Given the description of an element on the screen output the (x, y) to click on. 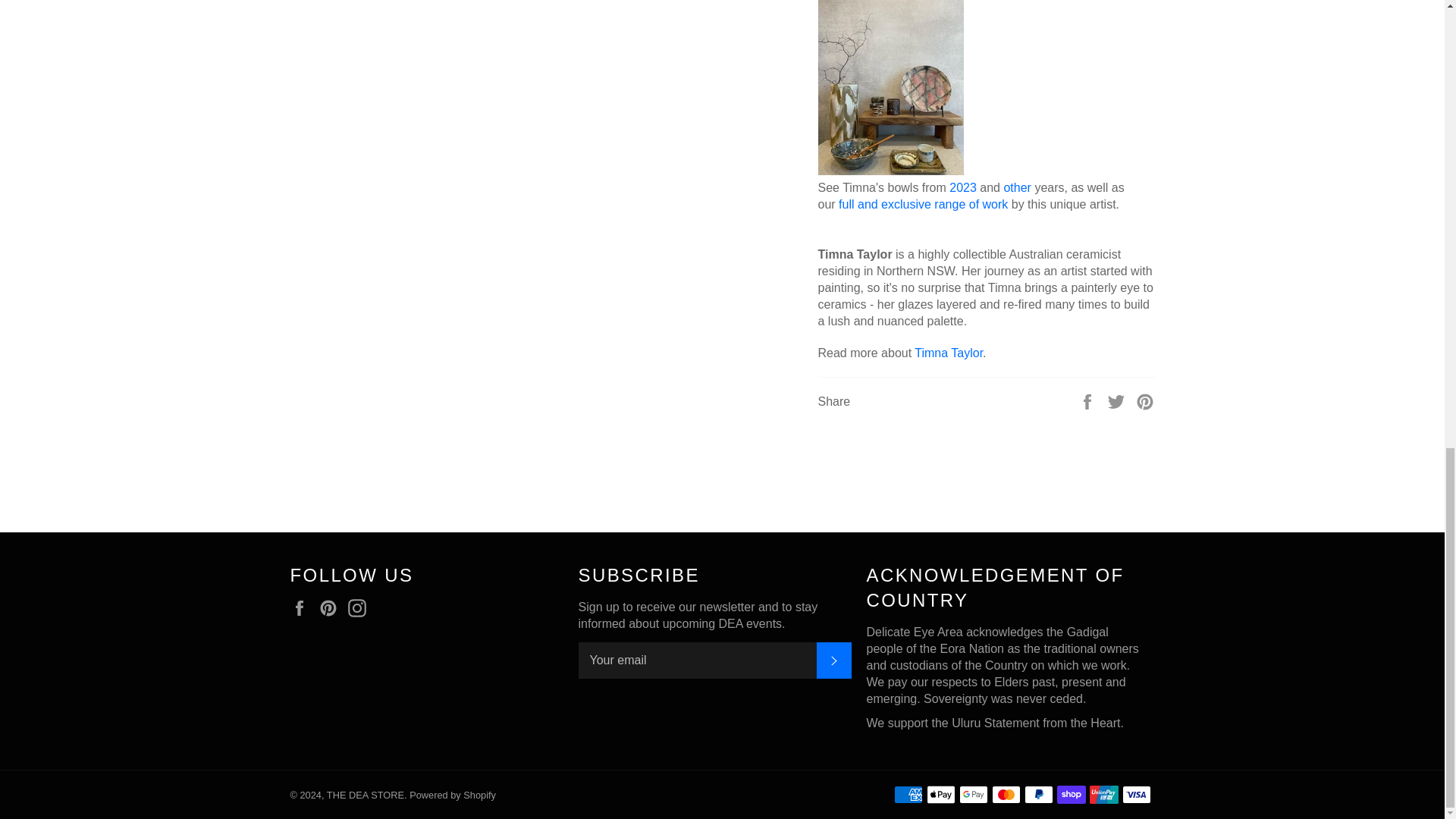
THE DEA STORE on Instagram (360, 607)
Tweet on Twitter (1117, 400)
Pin on Pinterest (1144, 400)
THE DEA STORE on Facebook (302, 607)
THE DEA STORE on Pinterest (331, 607)
Share on Facebook (1088, 400)
Timna Taylor (948, 352)
